Given the description of an element on the screen output the (x, y) to click on. 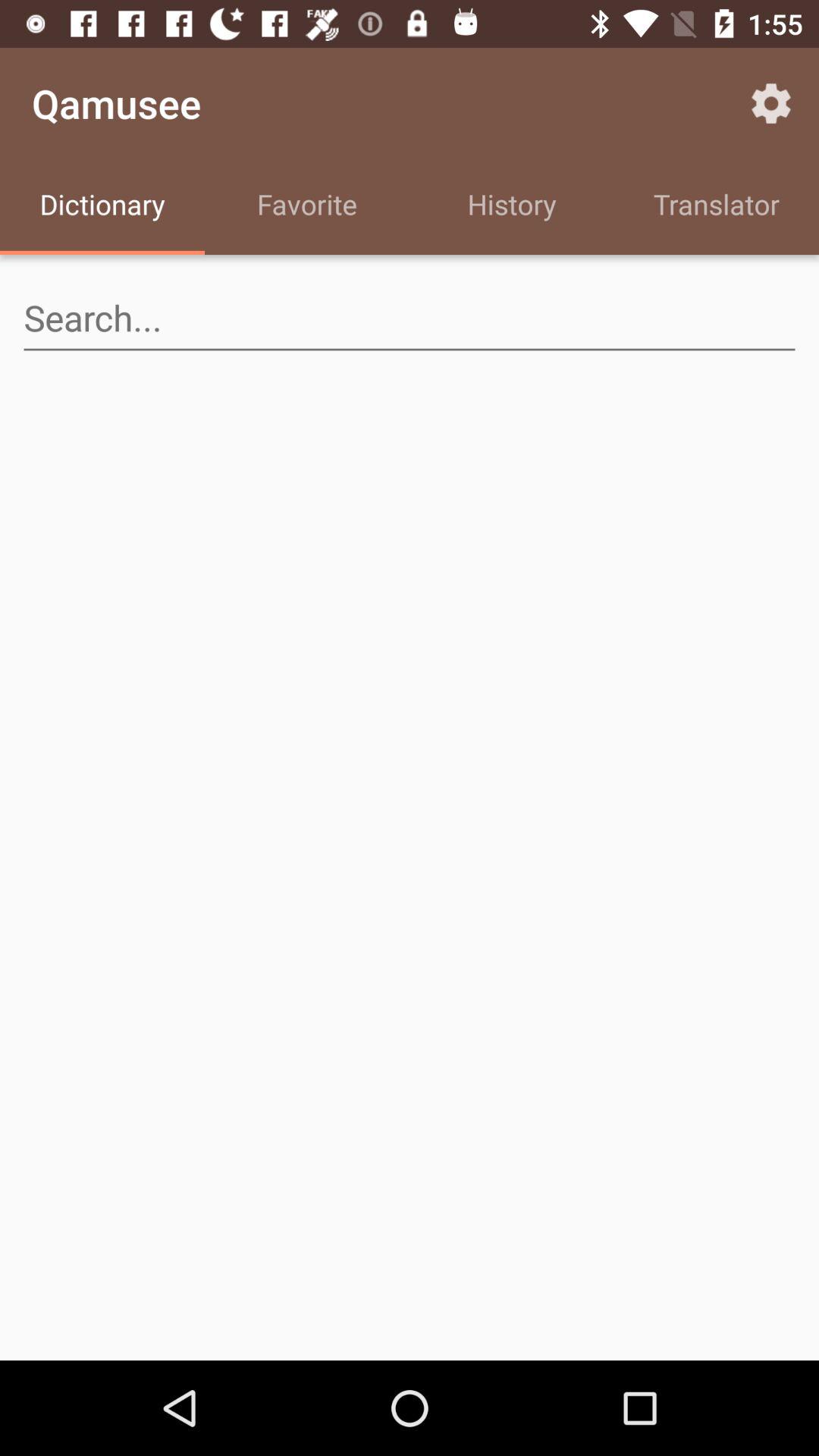
choose the item next to the history icon (306, 206)
